Given the description of an element on the screen output the (x, y) to click on. 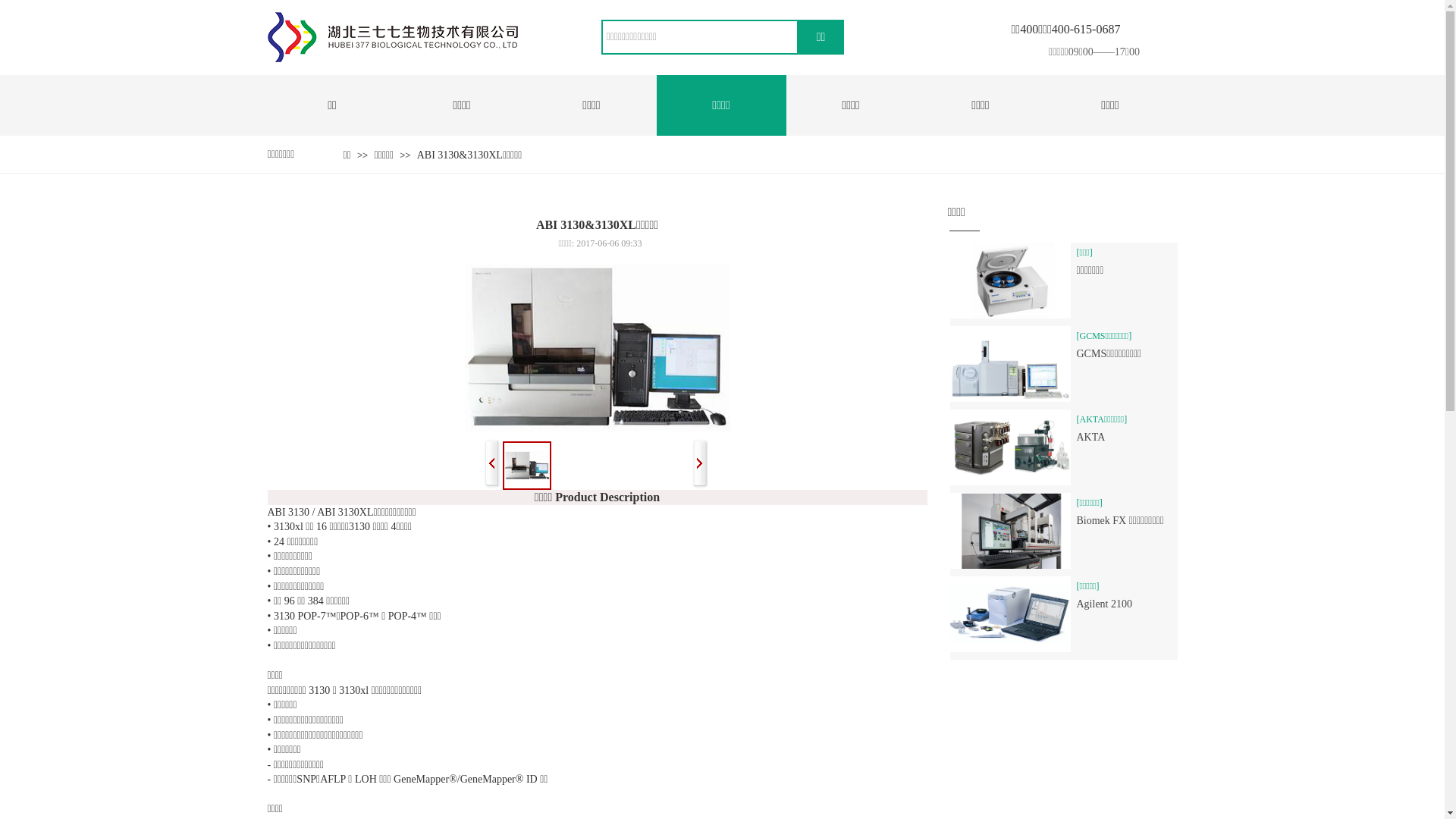
AKTA Element type: text (1126, 437)
Agilent 2100 Element type: text (1126, 603)
